Given the description of an element on the screen output the (x, y) to click on. 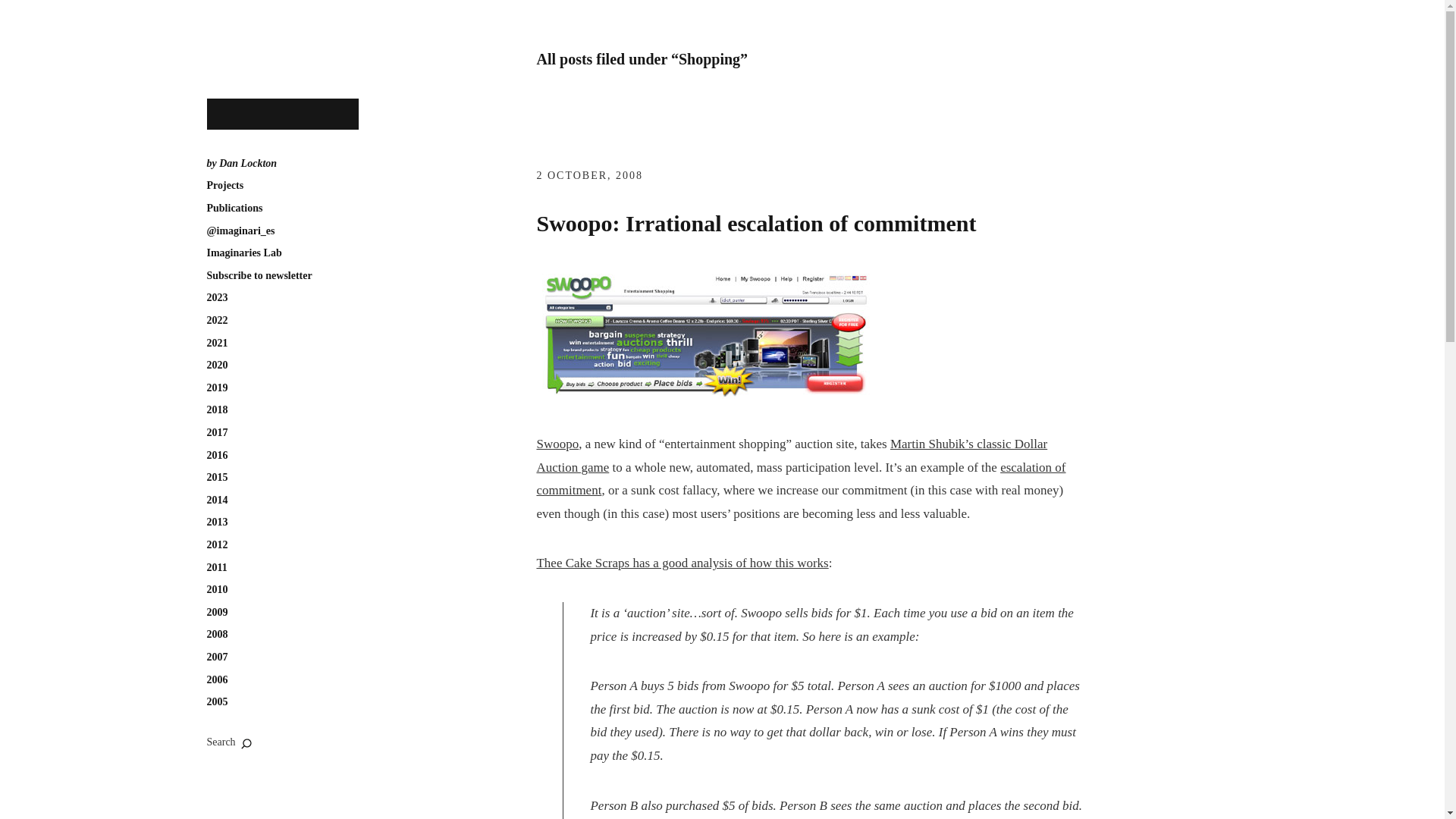
2020 (216, 365)
2021 (216, 343)
2009 (216, 612)
Imaginaries Lab (243, 253)
2015 (216, 477)
Subscribe to newsletter (258, 275)
Publications (234, 208)
2022 (216, 320)
2012 (216, 544)
Projects (224, 185)
Permalink to Swoopo: Irrational escalation of commitment (755, 222)
2016 (216, 455)
architectures by Dan Lockton (282, 113)
by Dan Lockton (241, 163)
2008 (216, 634)
